Given the description of an element on the screen output the (x, y) to click on. 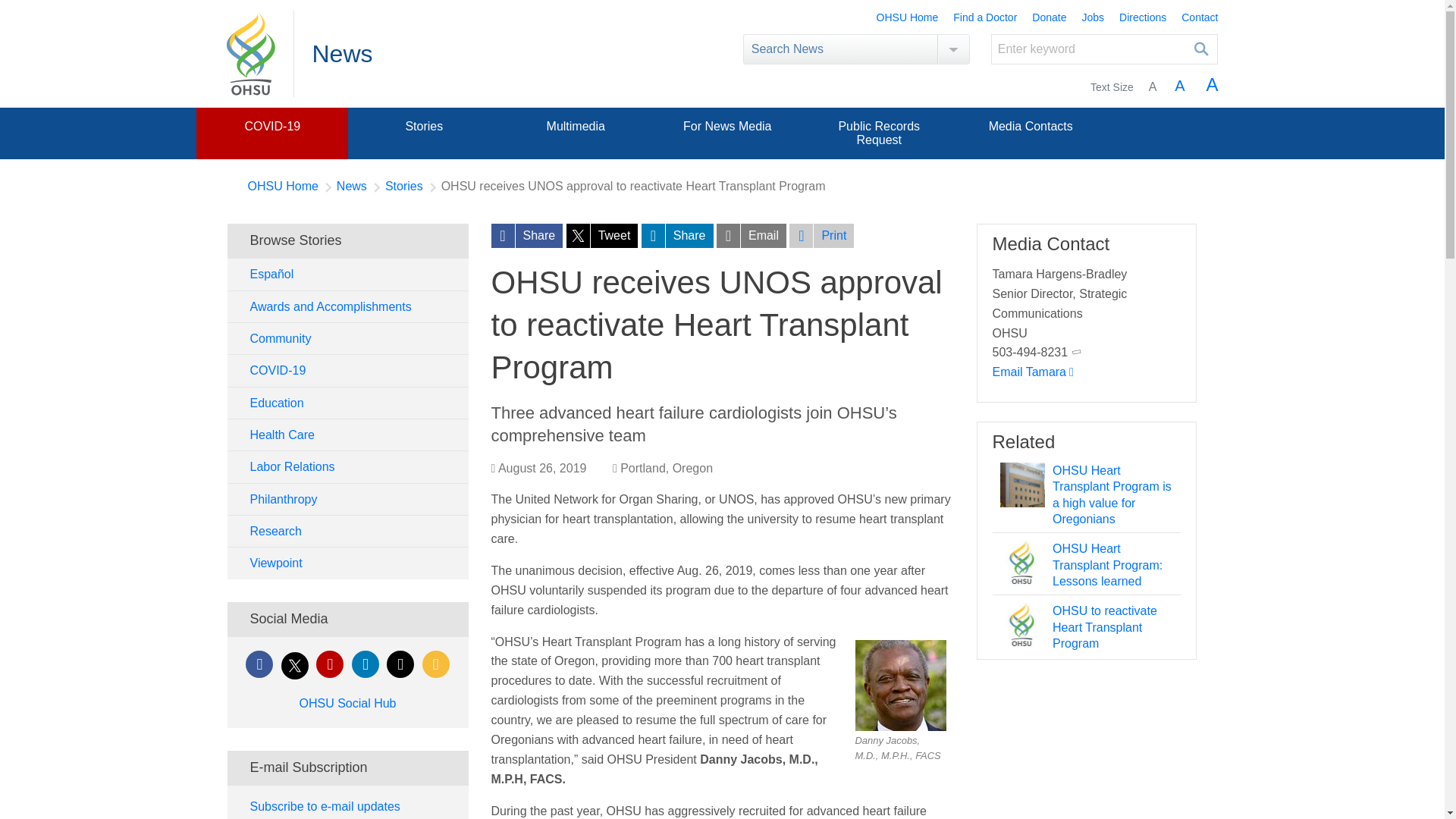
X (294, 665)
Awards and Accomplishments (347, 306)
Jobs (1092, 17)
Find a Doctor (984, 17)
LinkedIn (365, 664)
COVID-19 (271, 126)
Public Records Request (879, 132)
Multimedia (574, 126)
OHSU Home (907, 17)
Facebook (259, 664)
